Given the description of an element on the screen output the (x, y) to click on. 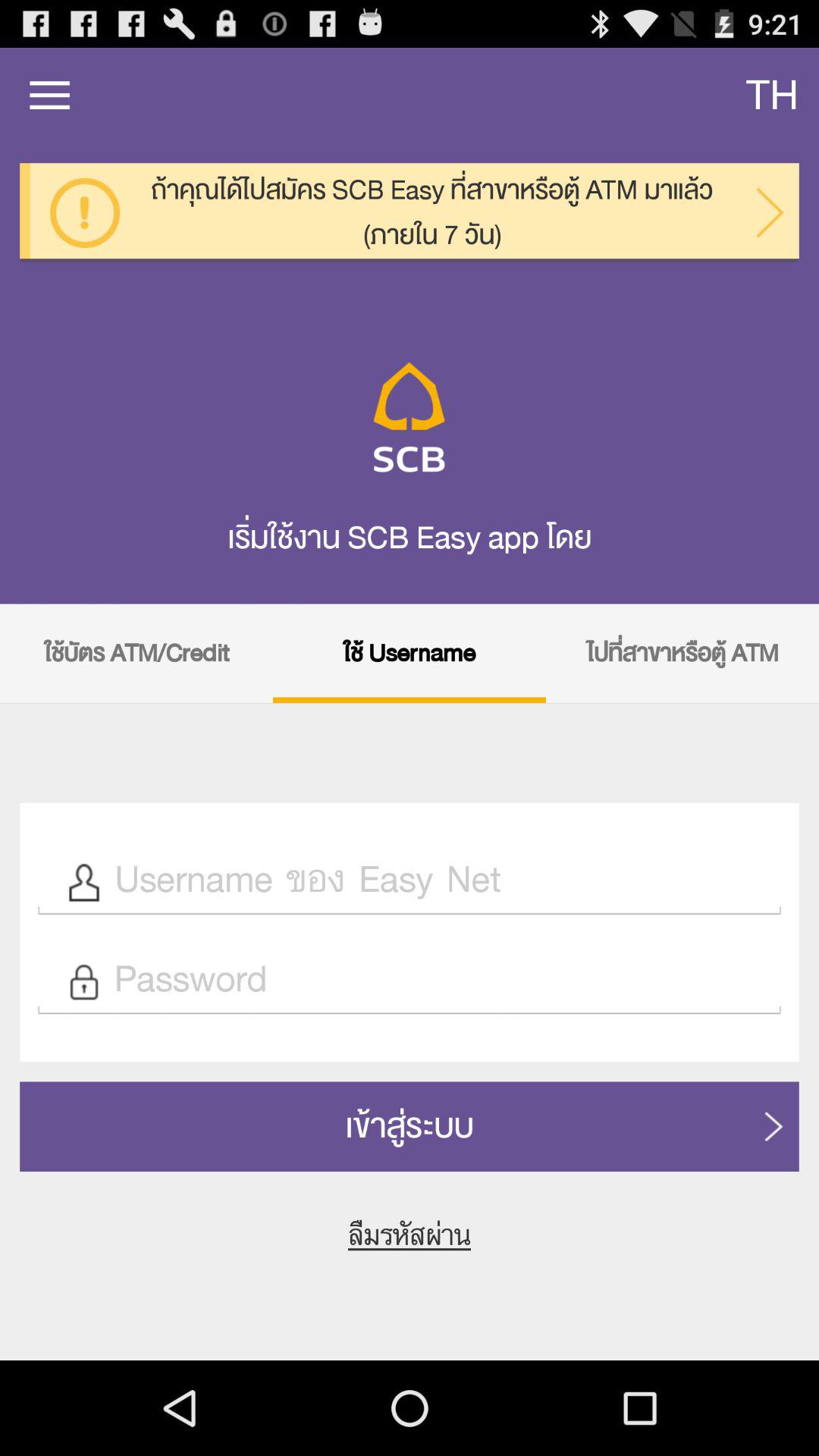
enter password (439, 981)
